Given the description of an element on the screen output the (x, y) to click on. 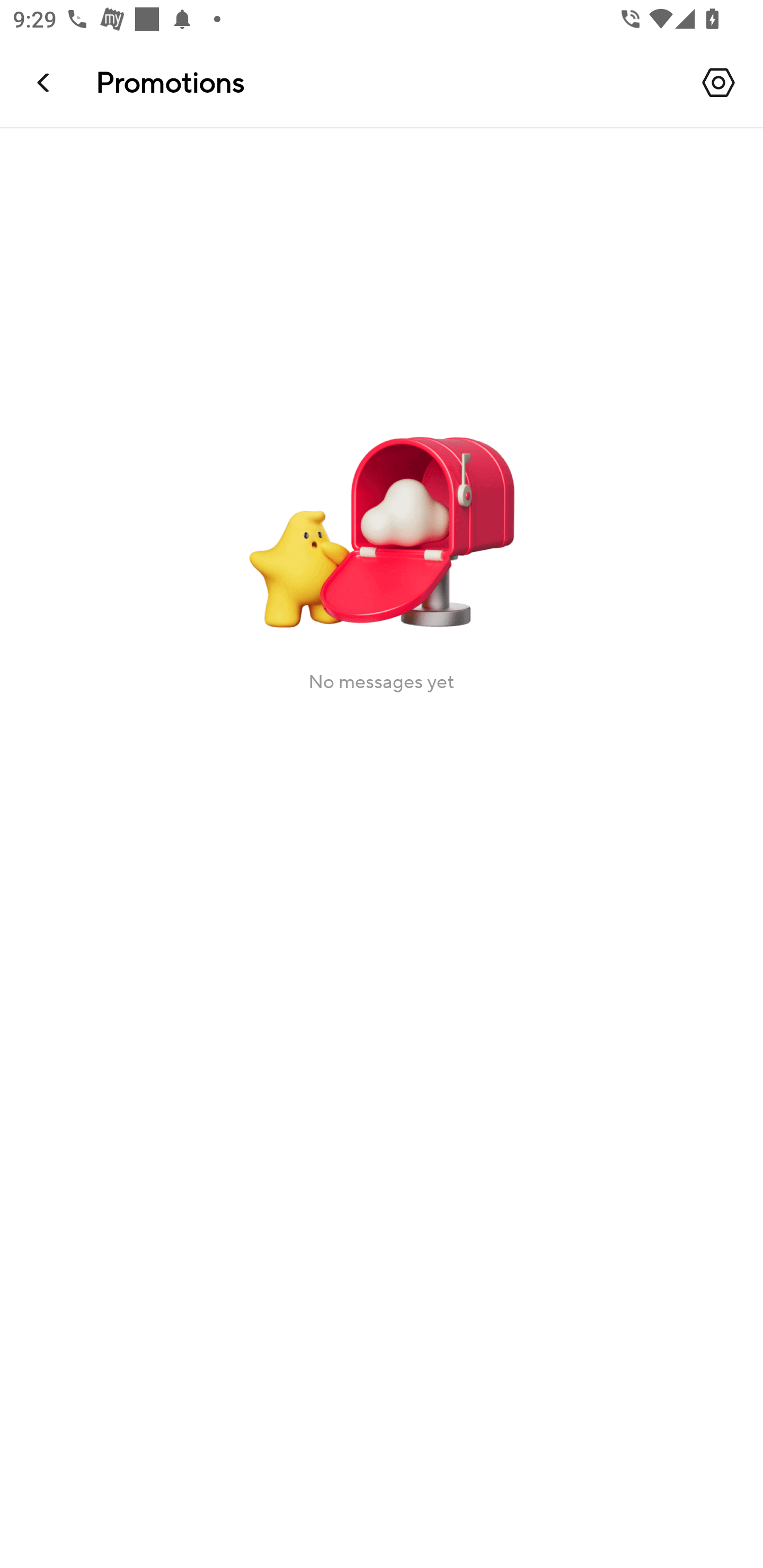
Navigate up (44, 82)
